Given the description of an element on the screen output the (x, y) to click on. 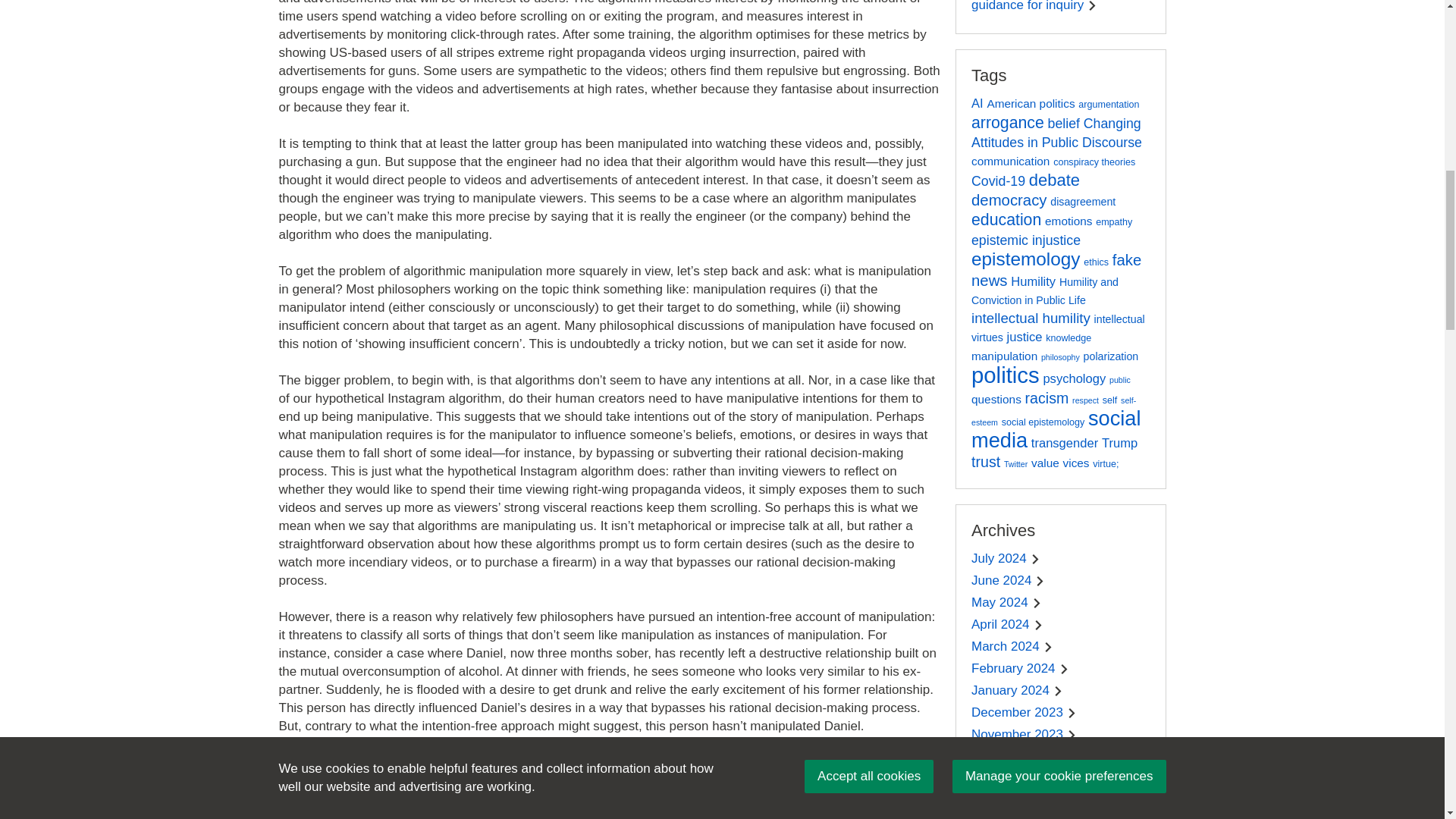
Chevron right (1063, 669)
Chevron right (1035, 559)
Chevron right (1092, 5)
Chevron right (1037, 603)
Chevron right (1038, 624)
Chevron right (1047, 646)
Chevron right (1057, 691)
Chevron right (1040, 581)
